Given the description of an element on the screen output the (x, y) to click on. 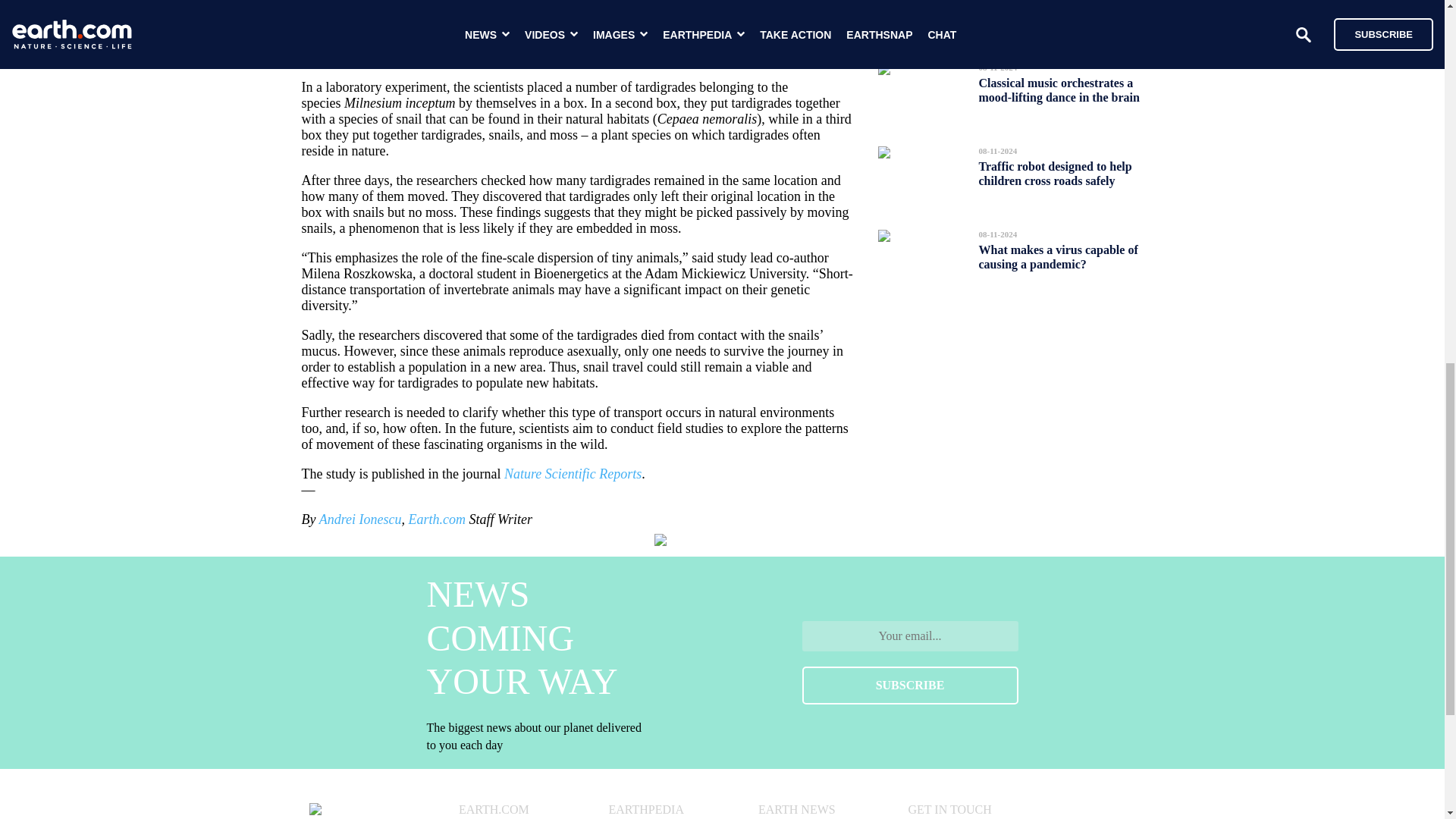
SUBSCRIBE (909, 685)
Adam Mickiewicz University (683, 25)
Traffic robot designed to help children cross roads safely (1054, 173)
Andrei Ionescu (359, 519)
What makes a virus capable of causing a pandemic? (1057, 256)
Earth.com (436, 519)
Nature Scientific Reports (572, 473)
